Given the description of an element on the screen output the (x, y) to click on. 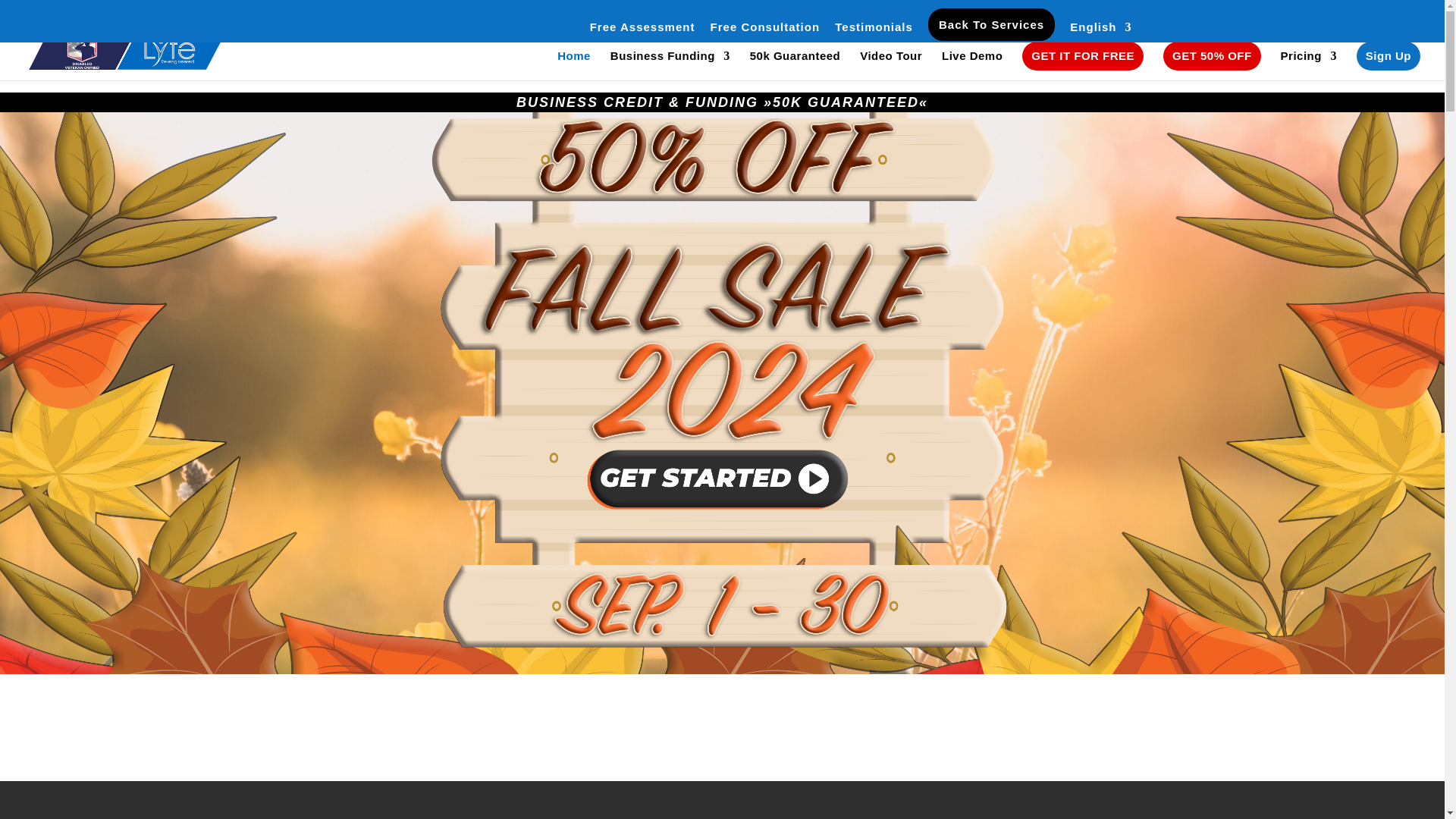
Testimonials (873, 30)
Live Demo (972, 65)
Pricing (1308, 65)
Free Consultation (765, 30)
Home (574, 65)
Business Funding (670, 65)
GET IT FOR FREE (1082, 55)
50k Guaranteed (795, 65)
Free Assessment (642, 30)
Video Tour (890, 65)
